Given the description of an element on the screen output the (x, y) to click on. 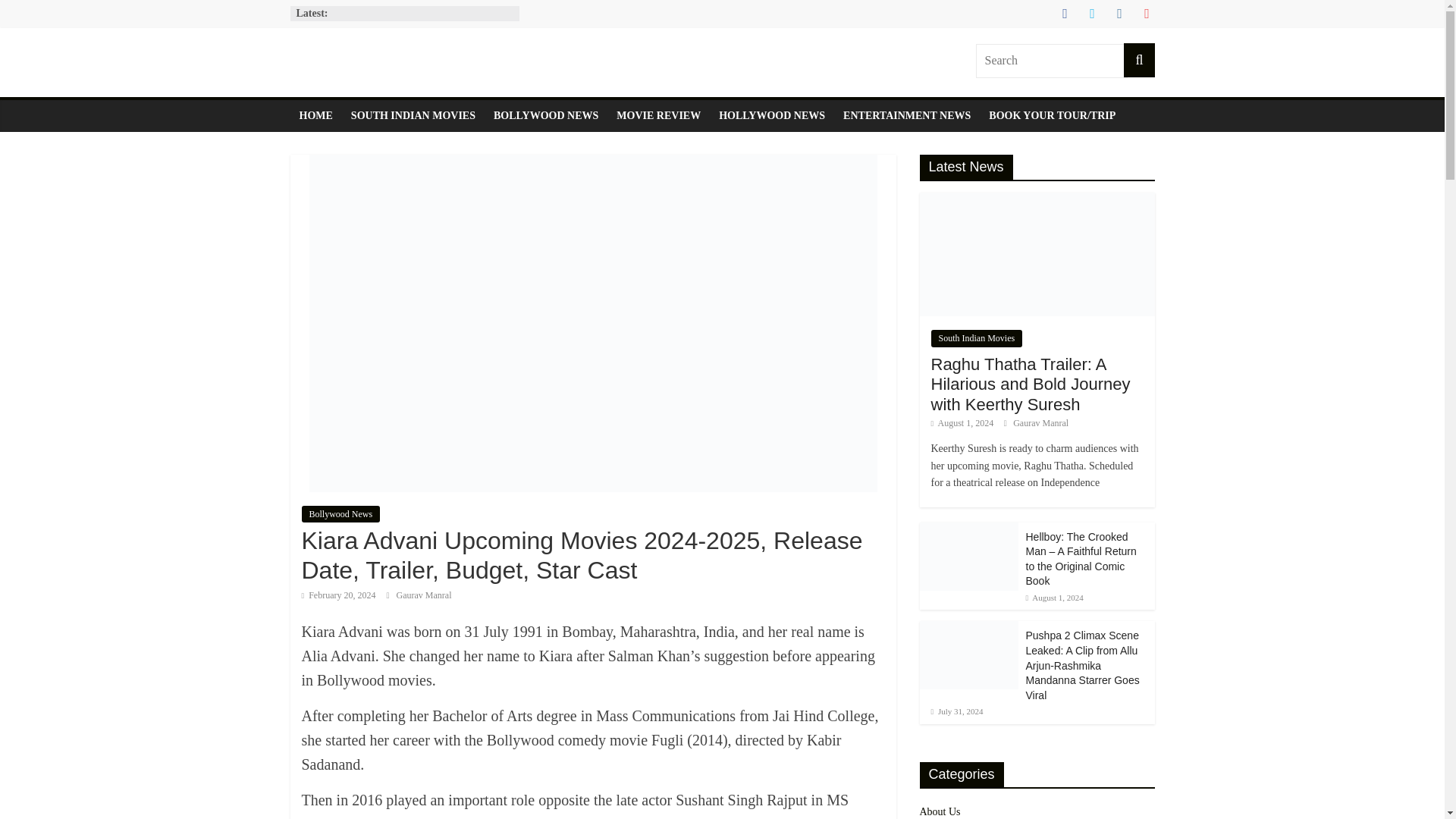
HOLLYWOOD NEWS (772, 115)
Gaurav Manral (423, 594)
12:38 pm (338, 594)
SOUTH INDIAN MOVIES (413, 115)
HOME (314, 115)
BOLLYWOOD NEWS (545, 115)
ENTERTAINMENT NEWS (906, 115)
MOVIE REVIEW (658, 115)
Bollywood News (340, 514)
Gaurav Manral (423, 594)
